Given the description of an element on the screen output the (x, y) to click on. 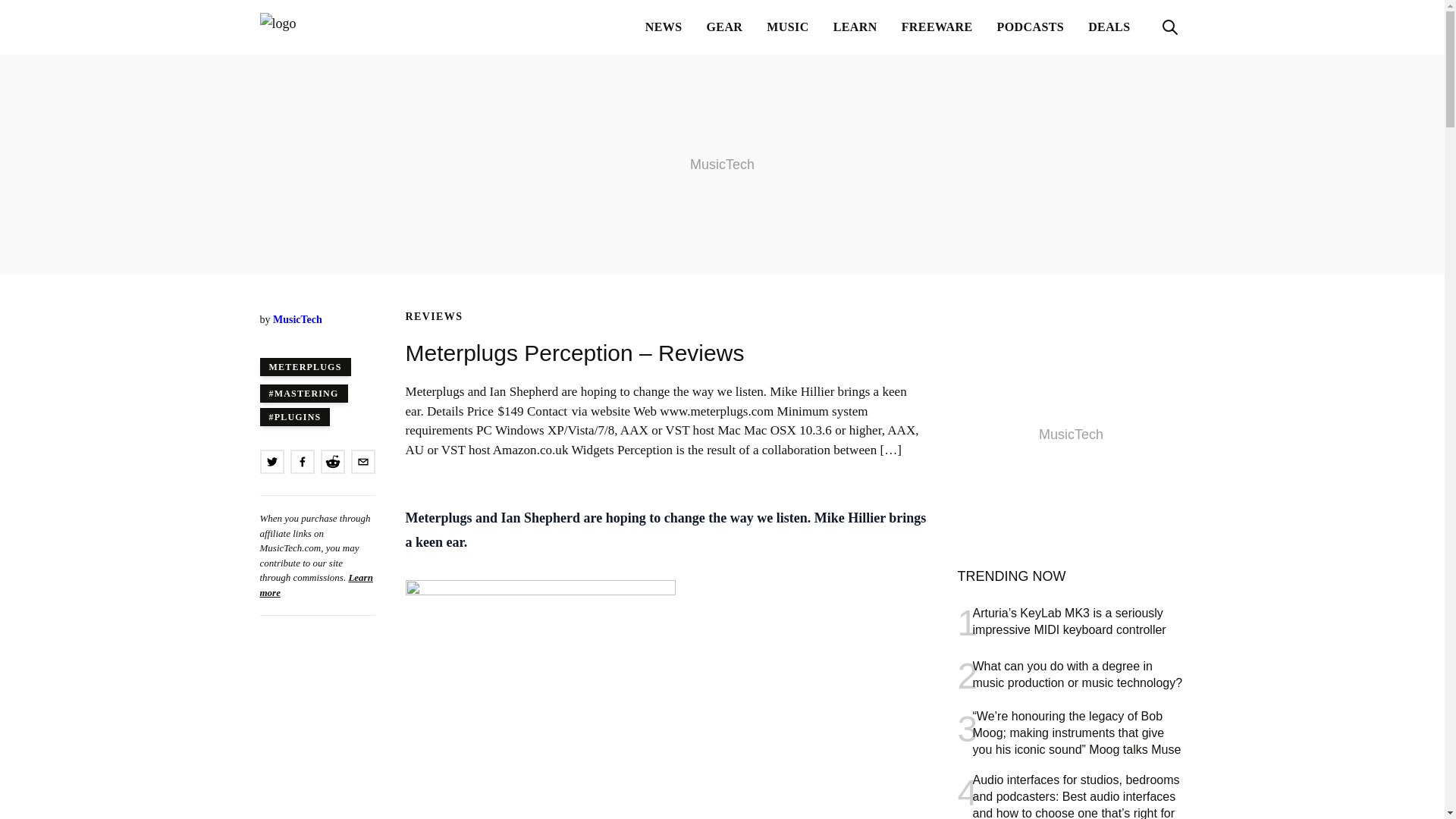
Mastering (303, 393)
MusicTech (334, 27)
DEALS (1108, 27)
GEAR (724, 27)
REVIEWS (433, 316)
FREEWARE (936, 27)
MusicTech (297, 319)
MeterPlugs (304, 366)
Published July 26, 2014 9:00AM (316, 335)
